Given the description of an element on the screen output the (x, y) to click on. 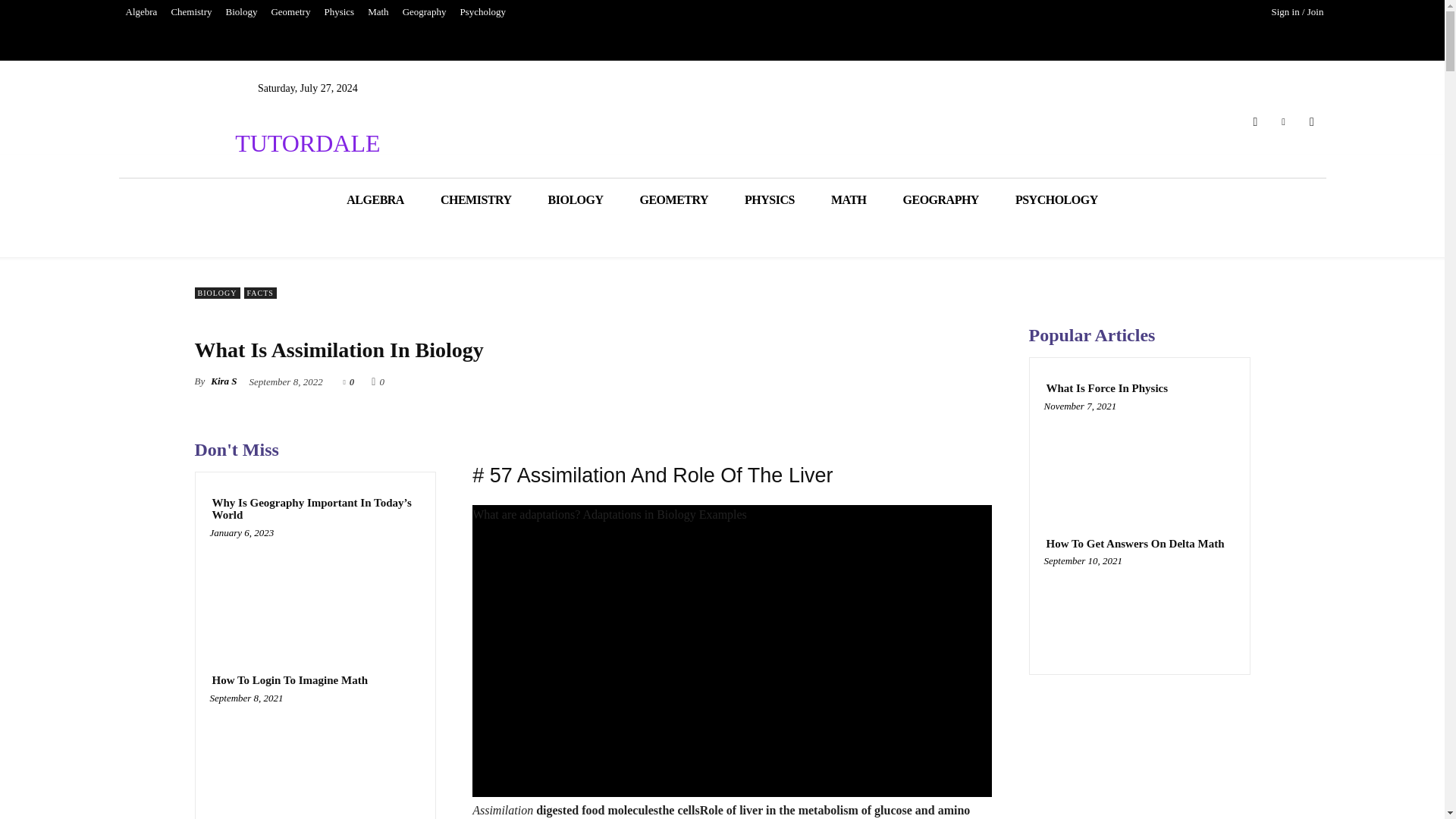
Twitter (1283, 121)
CHEMISTRY (475, 199)
PHYSICS (769, 199)
Math (377, 12)
Biology (241, 12)
ALGEBRA (375, 199)
How To Login To Imagine Math (289, 680)
Facebook (1254, 121)
Geography (424, 12)
Chemistry (190, 12)
